Given the description of an element on the screen output the (x, y) to click on. 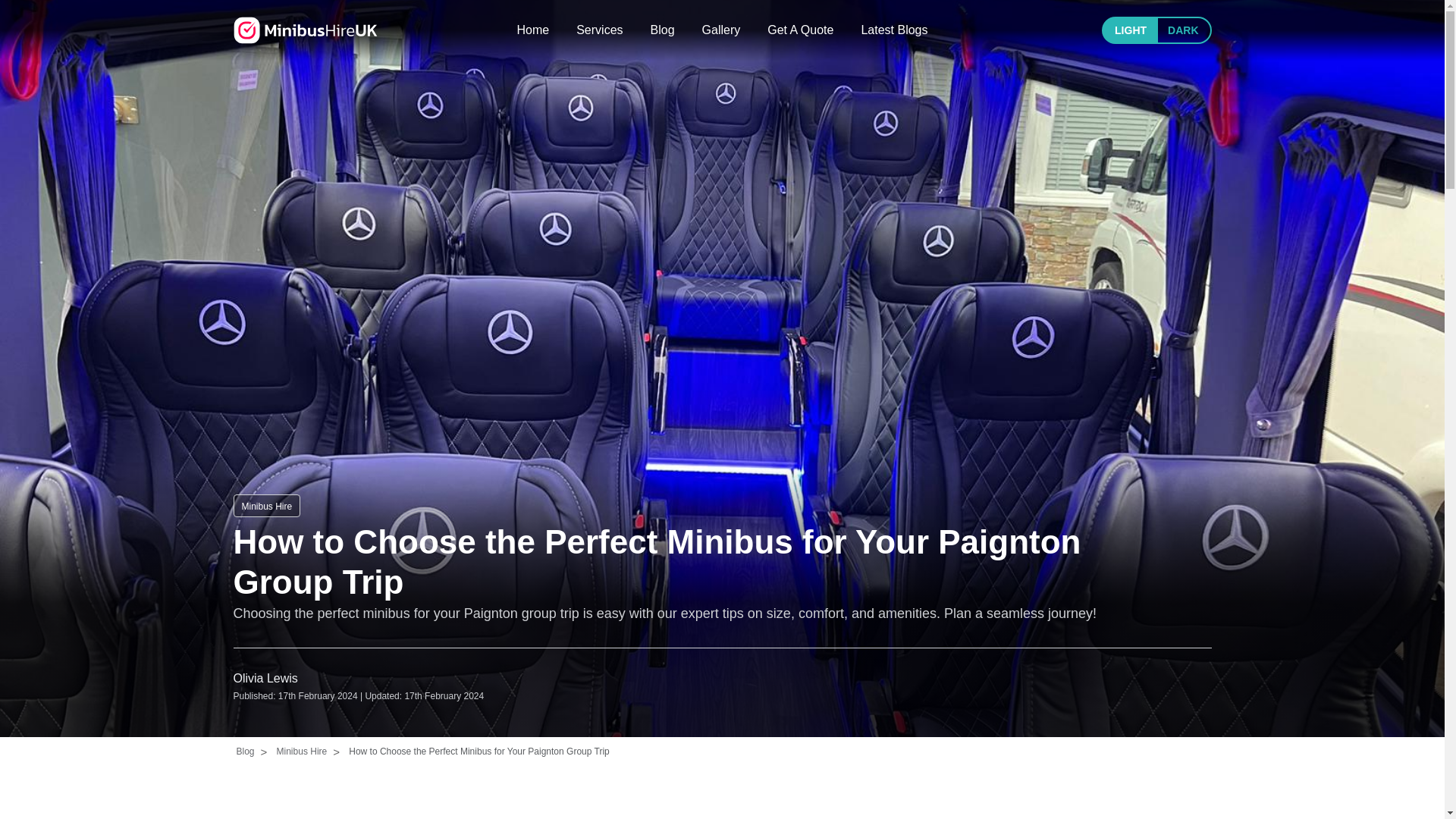
Get A Quote (799, 30)
Latest Blogs (893, 30)
Get A Quote (799, 30)
Latest Blogs (893, 30)
Minibus Hire (304, 29)
